Given the description of an element on the screen output the (x, y) to click on. 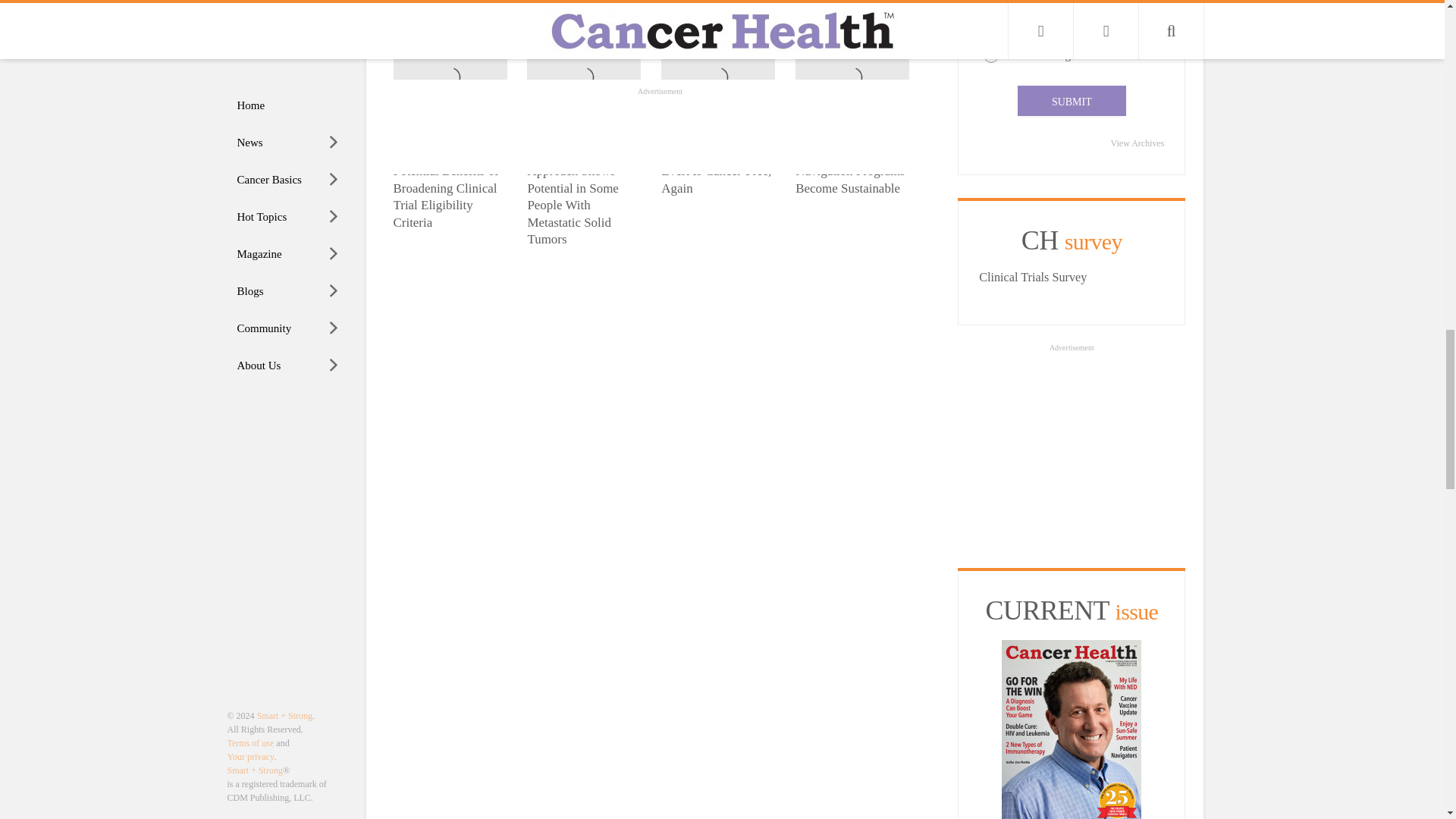
3rd party ad content (1071, 450)
